Given the description of an element on the screen output the (x, y) to click on. 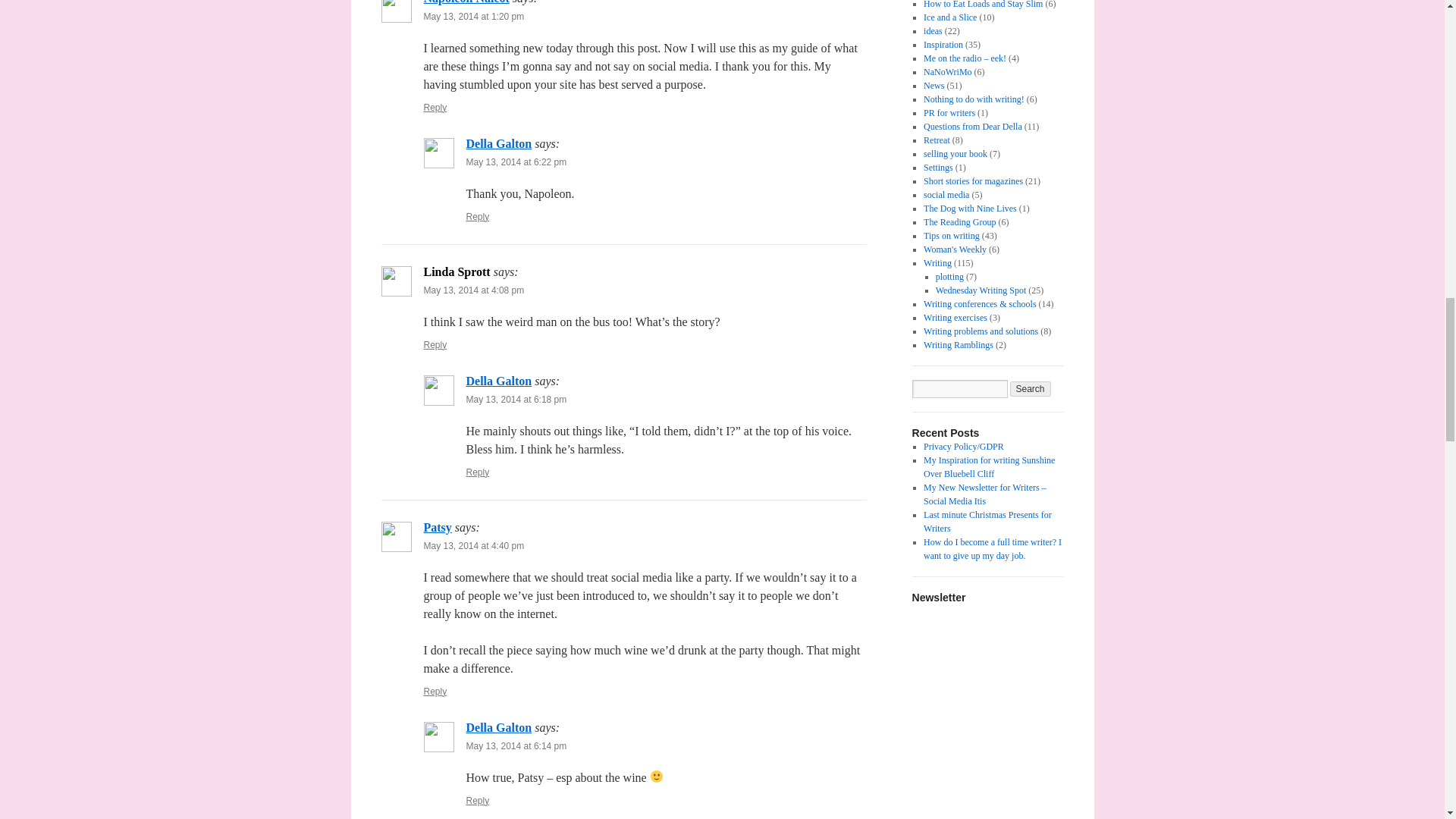
May 13, 2014 at 1:20 pm (473, 16)
Napoleon Nalcot (465, 2)
Search (1030, 387)
Reply (434, 107)
